Given the description of an element on the screen output the (x, y) to click on. 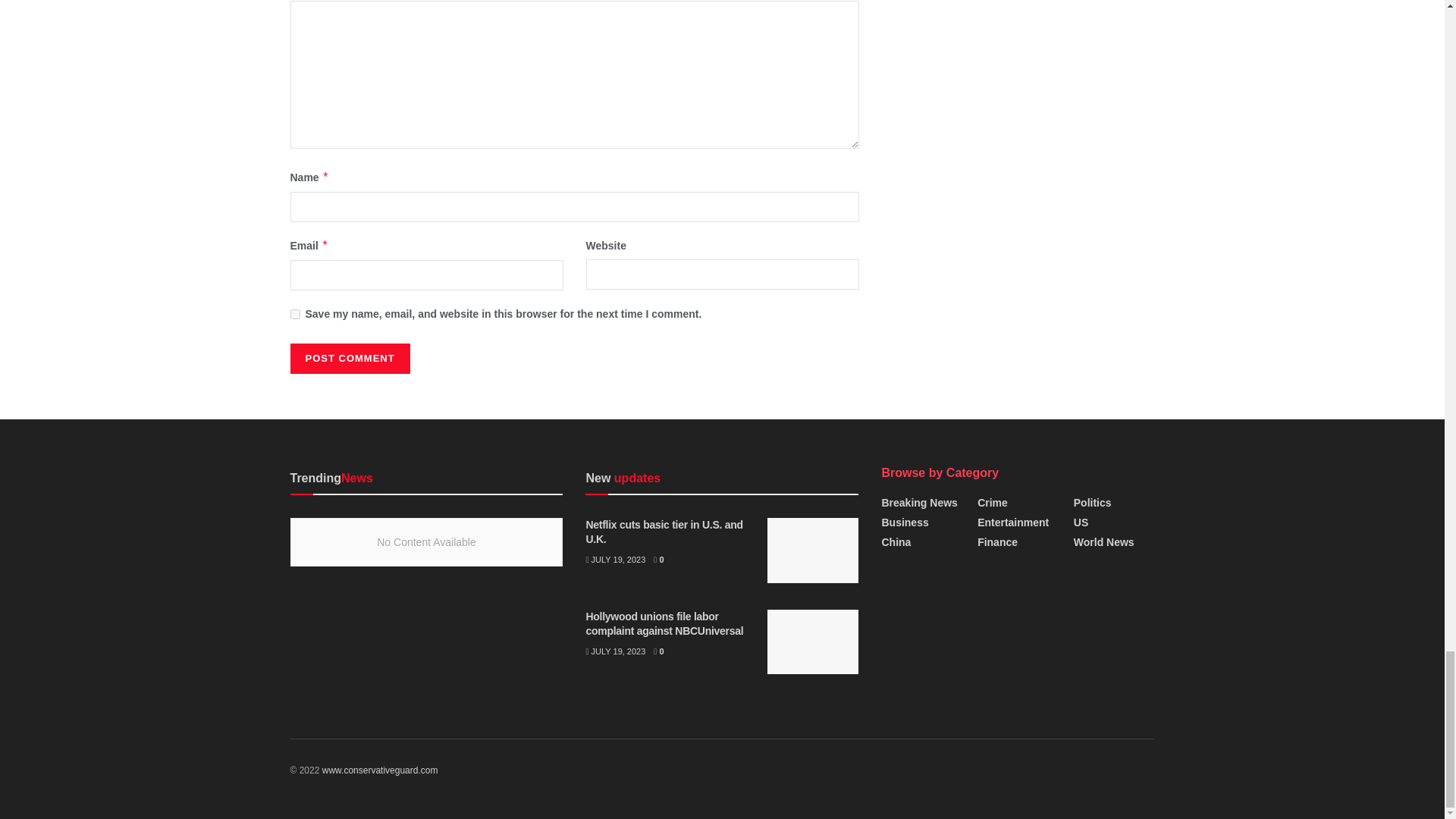
yes (294, 314)
www.conservativeguard.com (379, 769)
Post Comment (349, 358)
